Given the description of an element on the screen output the (x, y) to click on. 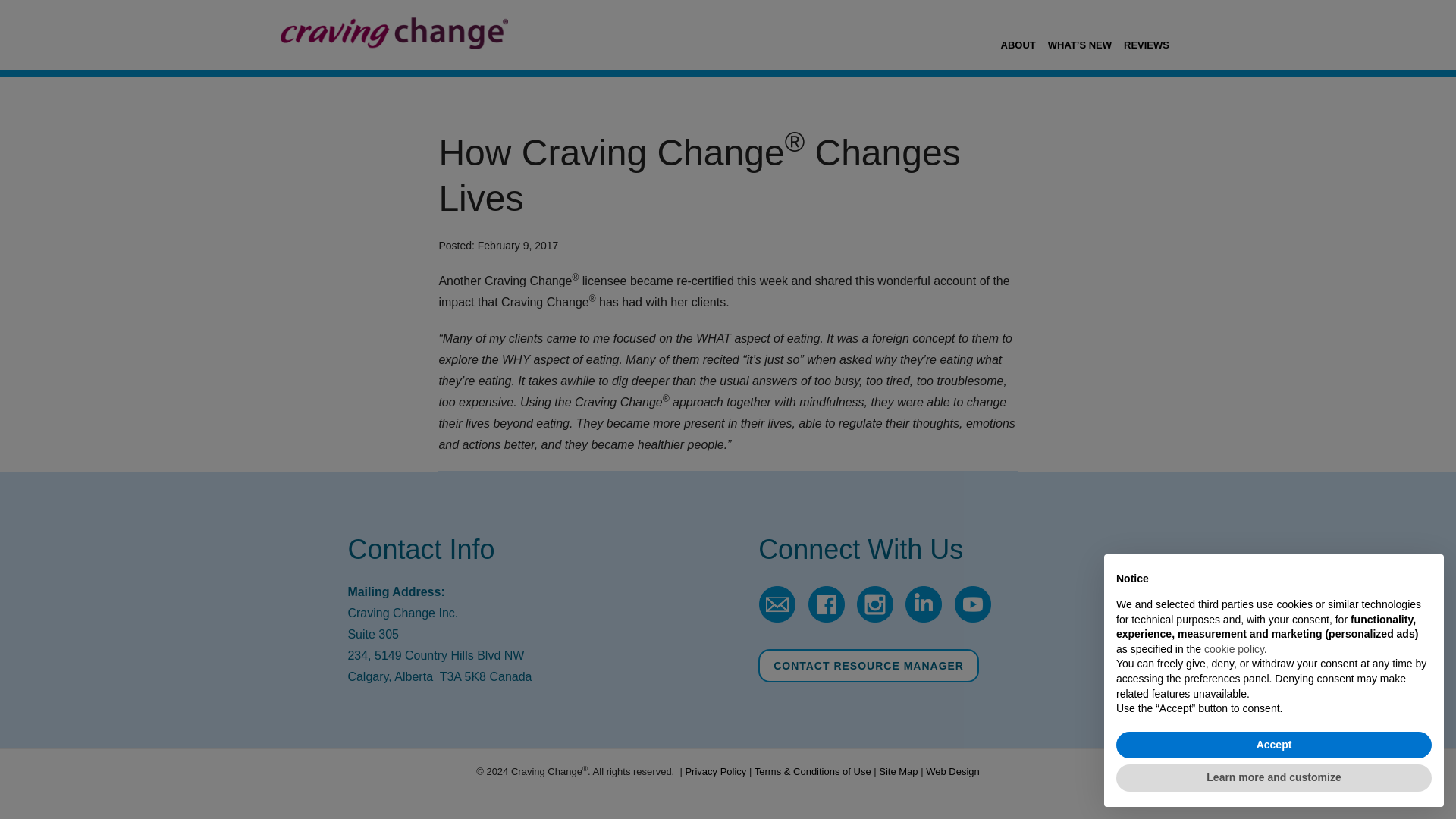
Learn more and customize (1273, 777)
REVIEWS (1146, 33)
Accept (1273, 745)
Follow us on Facebook (825, 621)
ABOUT (1018, 33)
CONTACT RESOURCE MANAGER (868, 666)
Follow us on Instagram (874, 621)
Site Map (898, 771)
Connect with us on LinkedIn (923, 621)
